Given the description of an element on the screen output the (x, y) to click on. 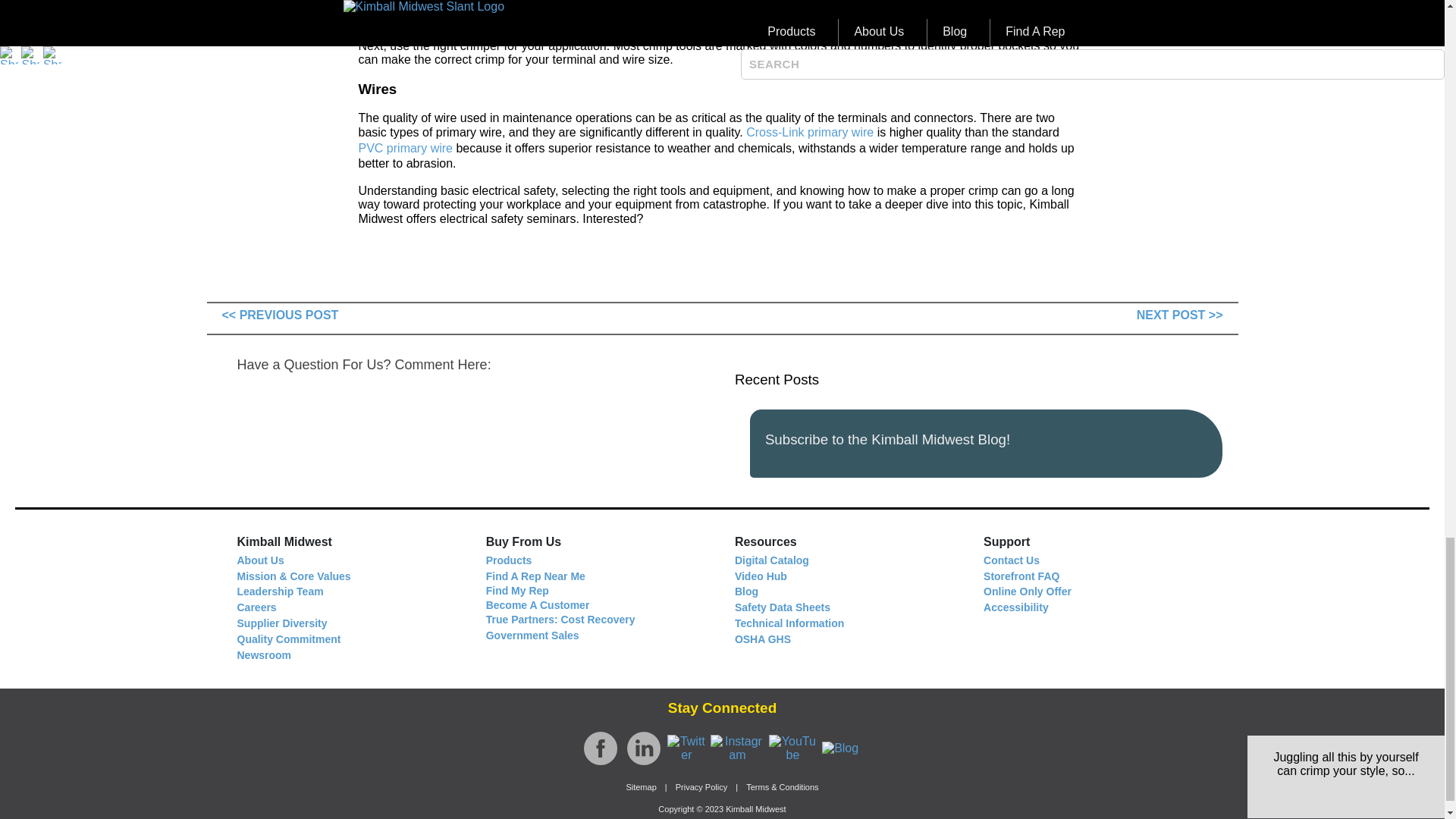
PVC primary wire (404, 147)
Cross-Link primary wire (809, 132)
Quality Commitment (287, 638)
YouTube (792, 748)
Twitter (686, 748)
Products (509, 559)
Careers (255, 606)
Become A Customer (537, 604)
Newsroom (263, 654)
About Us (259, 559)
LinkedIn (642, 748)
Leadership Team (279, 590)
True Partners: Cost Recovery (560, 618)
Instagram (737, 748)
Facebook (600, 748)
